Given the description of an element on the screen output the (x, y) to click on. 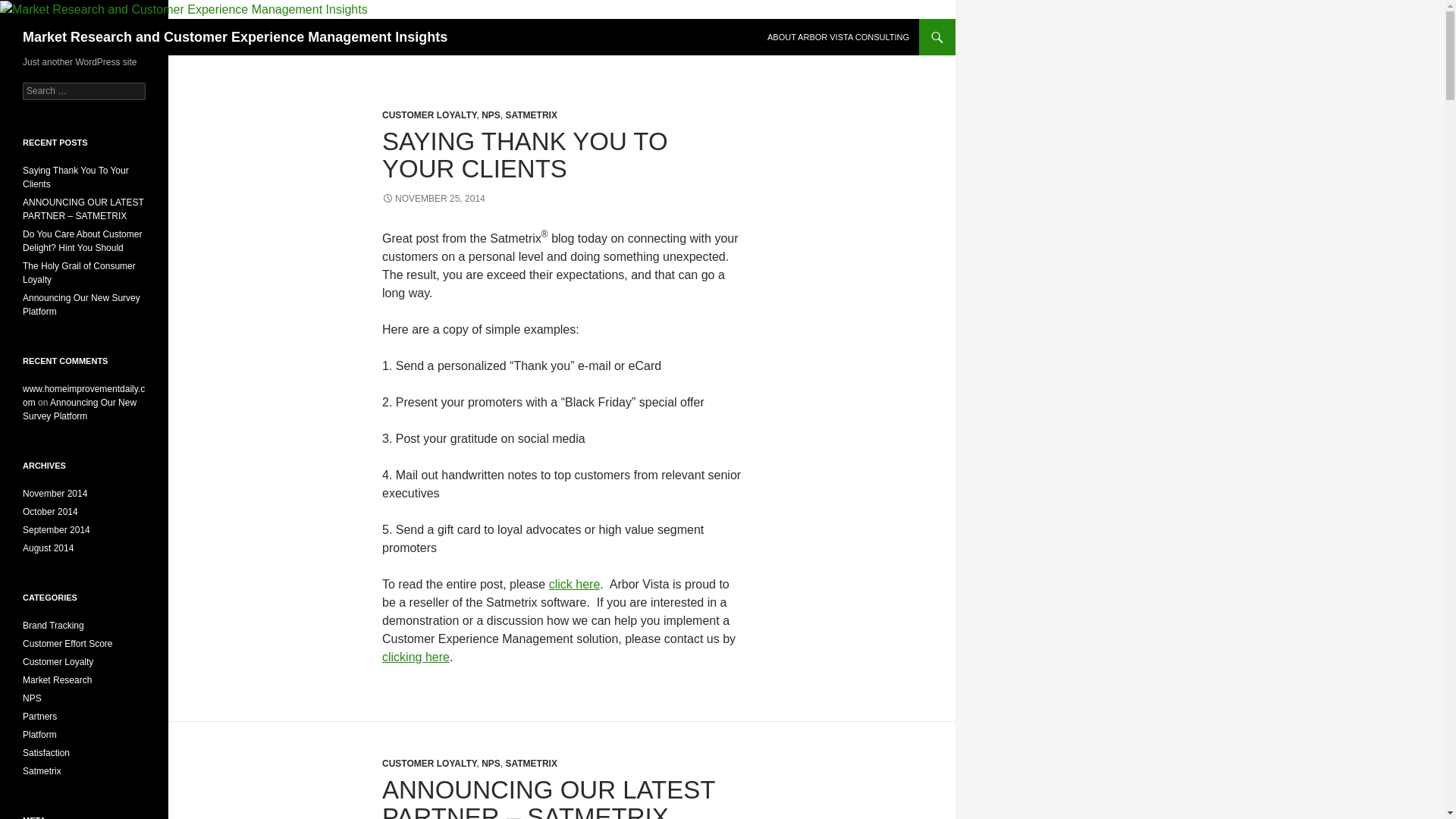
click here (573, 584)
clicking here (415, 656)
CUSTOMER LOYALTY (428, 114)
NOVEMBER 25, 2014 (432, 198)
ABOUT ARBOR VISTA CONSULTING (838, 36)
NPS (490, 763)
SATMETRIX (530, 114)
NPS (490, 114)
SAYING THANK YOU TO YOUR CLIENTS (524, 154)
Market Research and Customer Experience Management Insights (234, 36)
SATMETRIX (530, 763)
CUSTOMER LOYALTY (428, 763)
